Given the description of an element on the screen output the (x, y) to click on. 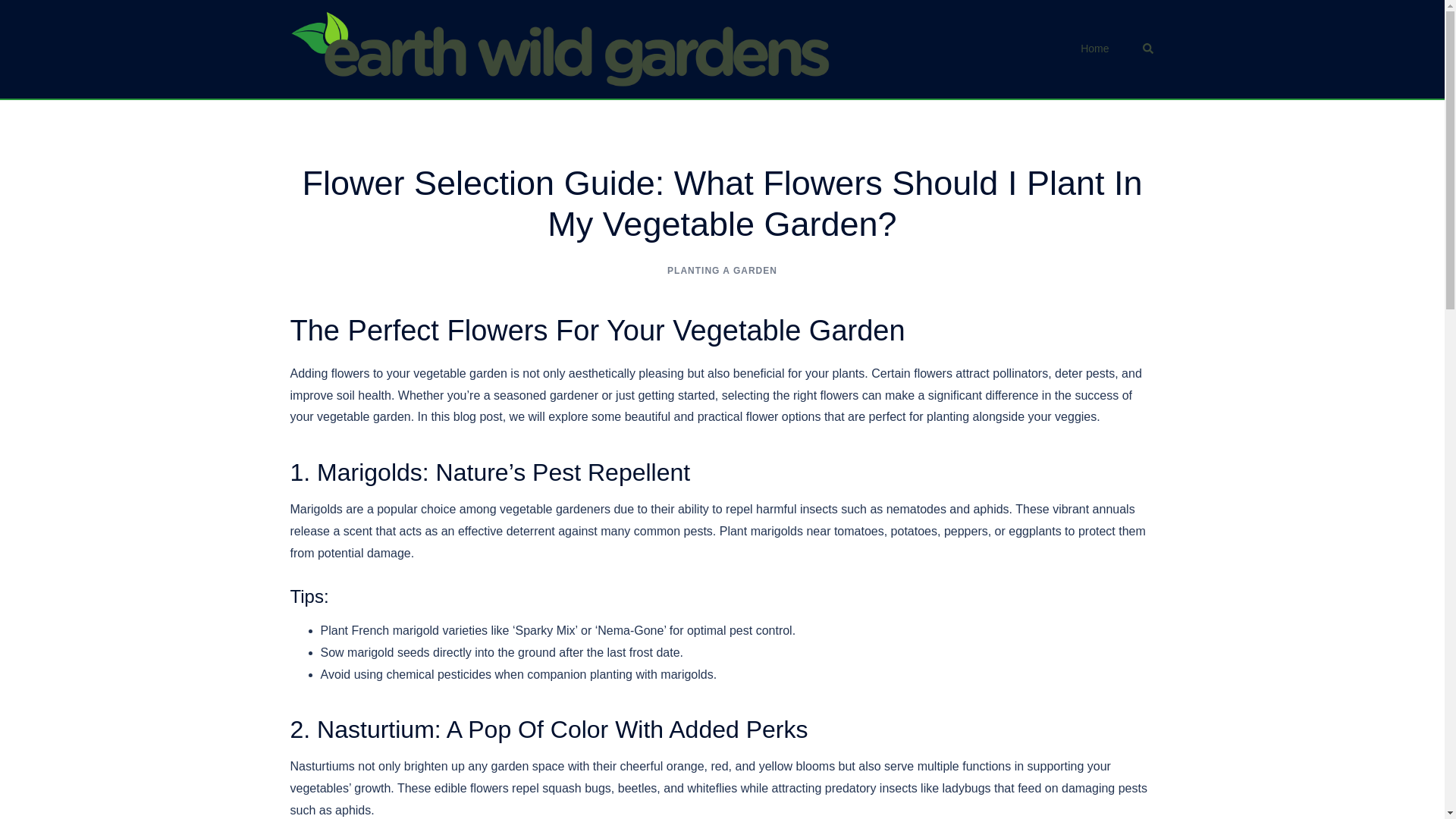
Earth Wild Gardens (559, 47)
Search (1147, 49)
PLANTING A GARDEN (721, 270)
Home (1094, 48)
